Given the description of an element on the screen output the (x, y) to click on. 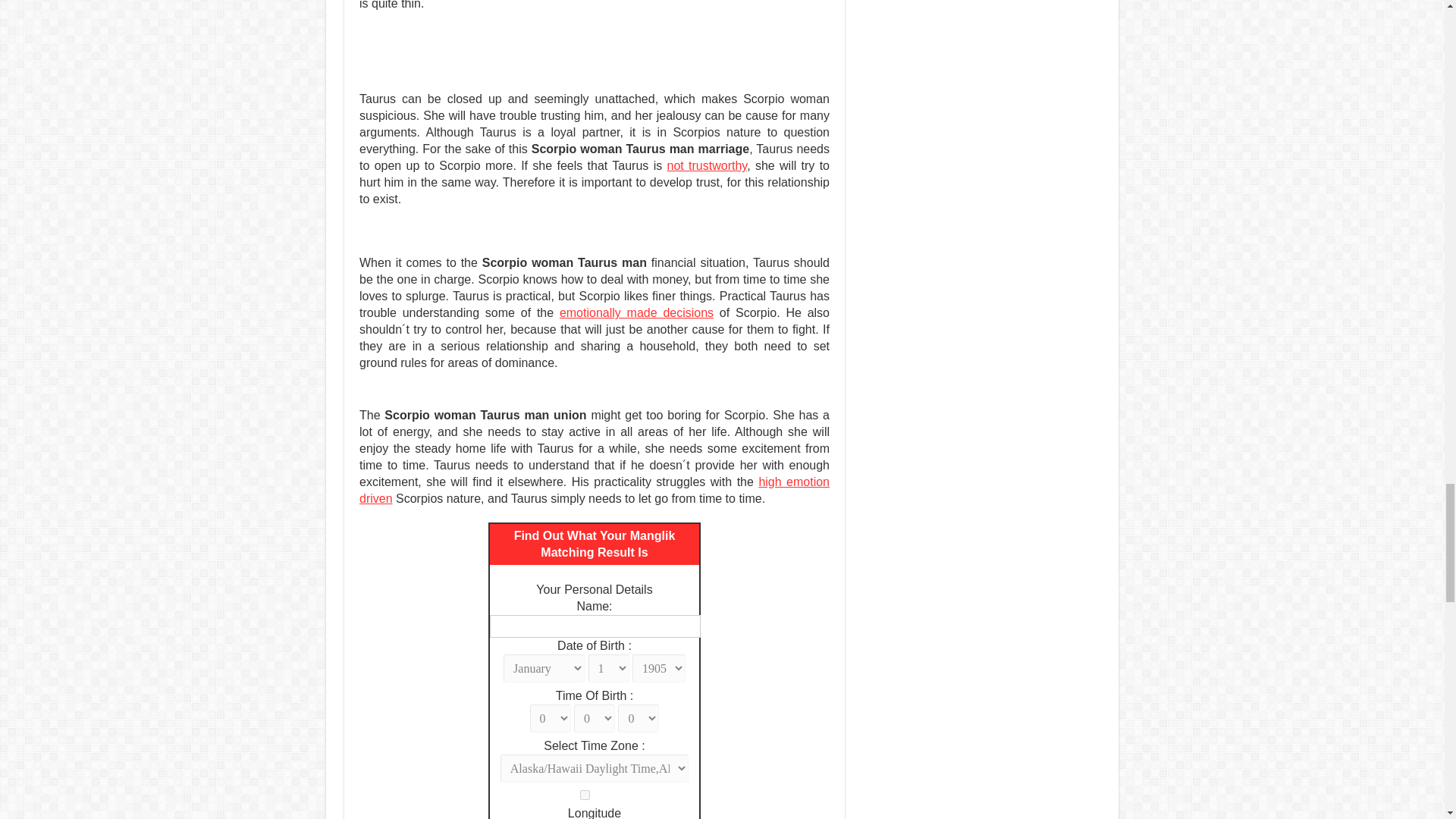
on (584, 795)
